Given the description of an element on the screen output the (x, y) to click on. 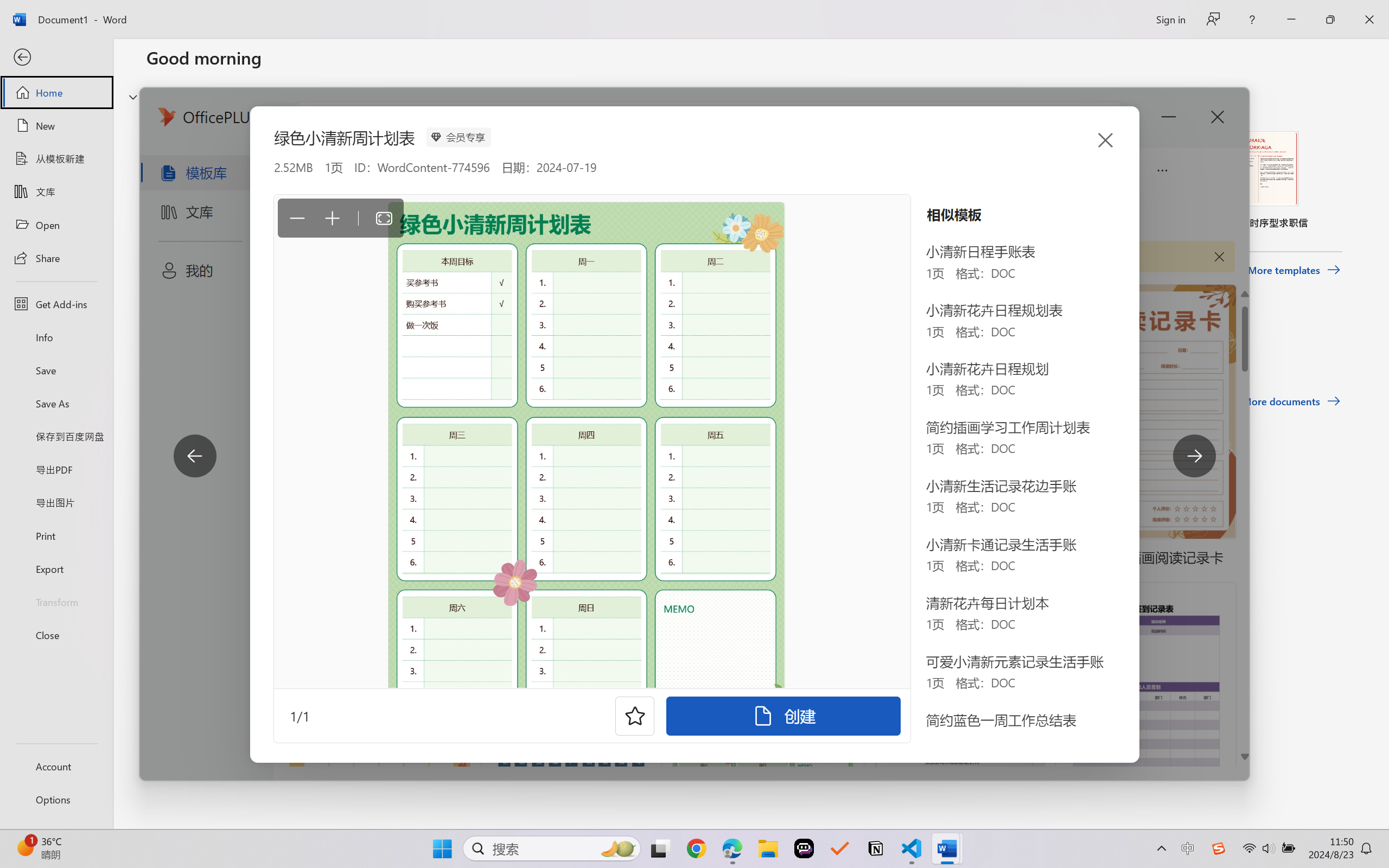
Get Add-ins (56, 303)
Back (56, 57)
Save As (56, 403)
Blank document (219, 180)
Options (56, 798)
More templates (1293, 270)
